Given the description of an element on the screen output the (x, y) to click on. 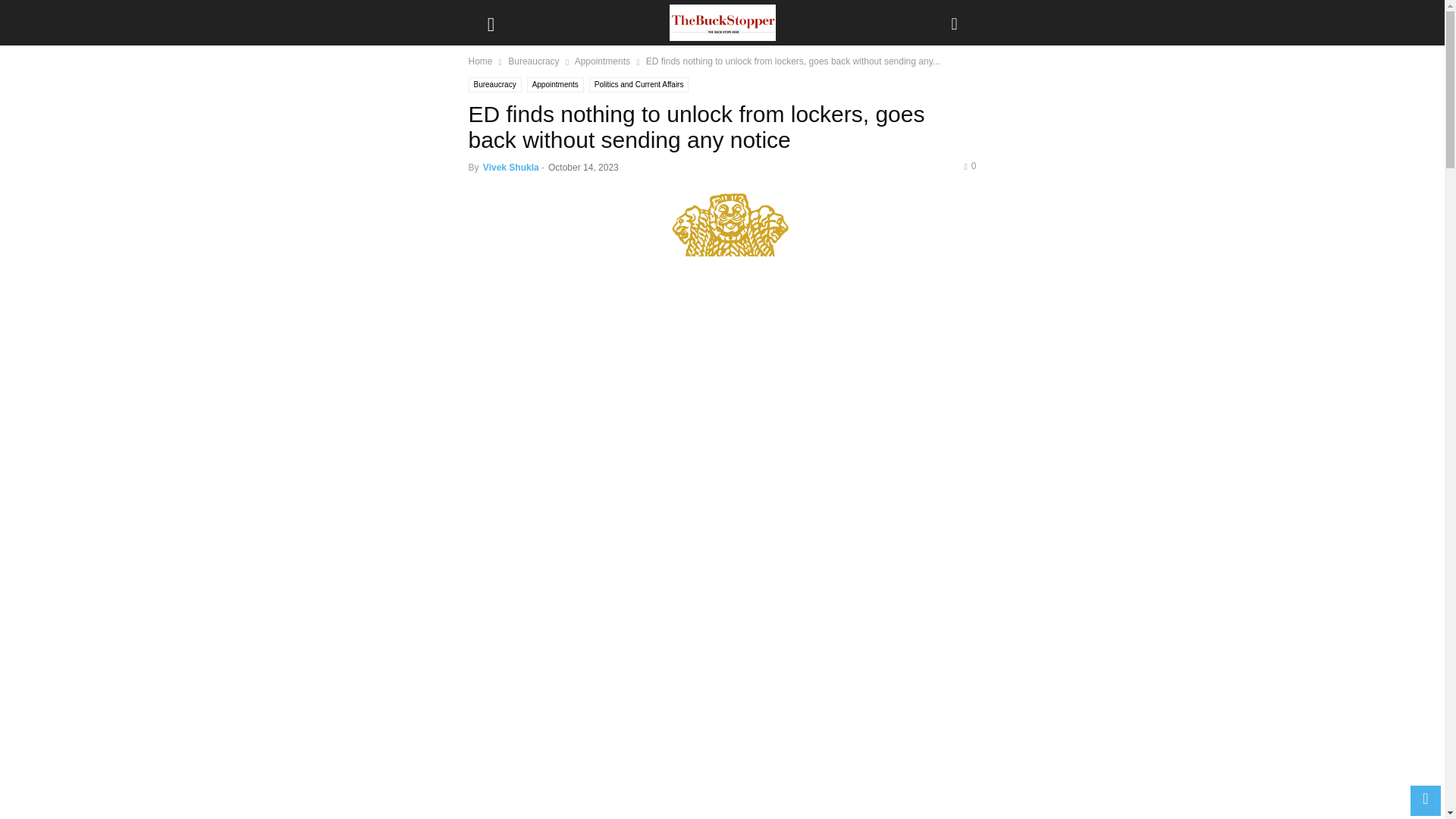
Bureaucracy (494, 84)
Appointments (602, 61)
Politics and Current Affairs (638, 84)
View all posts in Bureaucracy (533, 61)
Home (480, 61)
0 (969, 165)
Appointments (555, 84)
Vivek Shukla (510, 167)
View all posts in Appointments (602, 61)
Bureaucracy (533, 61)
